Given the description of an element on the screen output the (x, y) to click on. 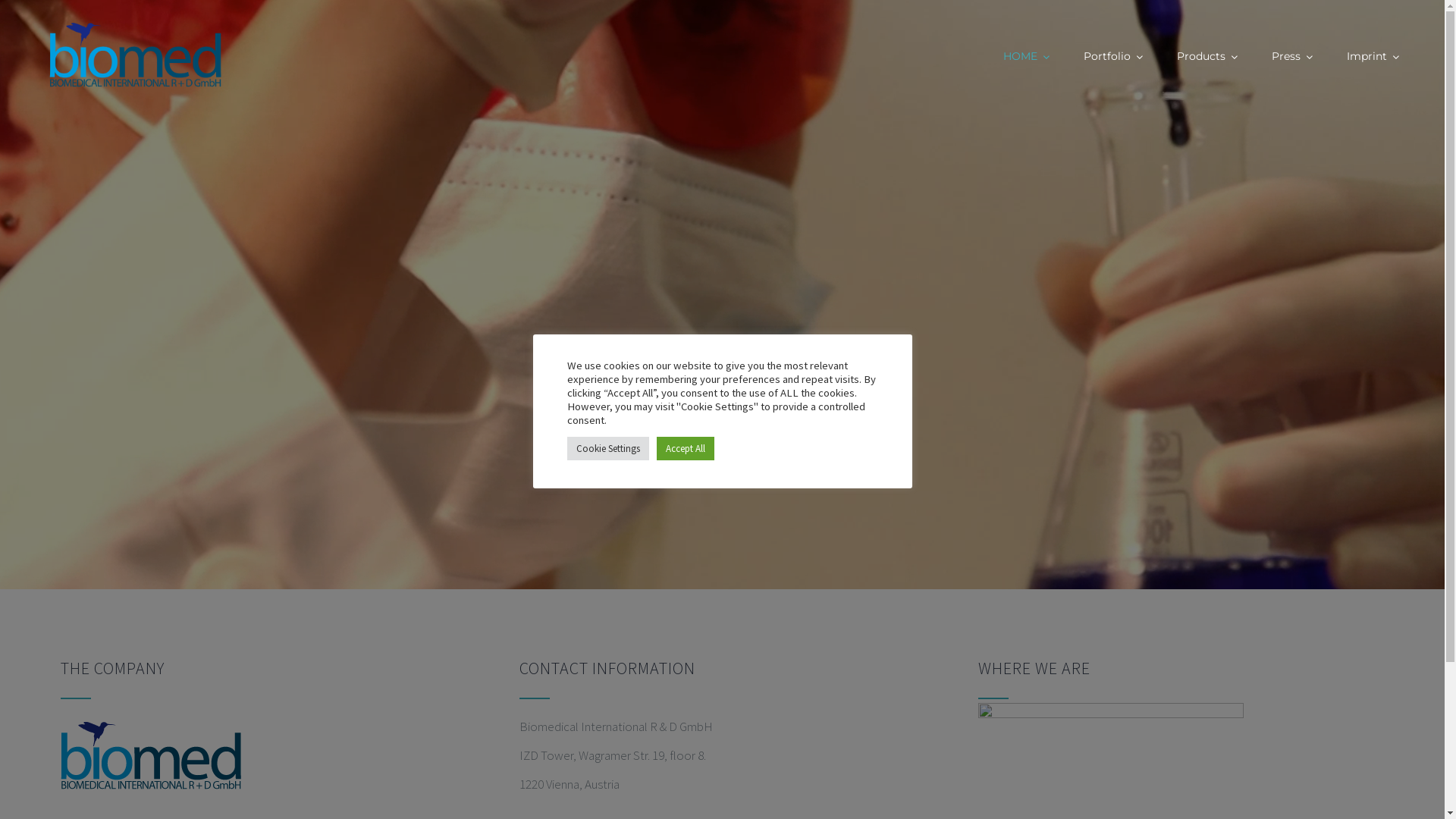
Portfolio Element type: text (1112, 56)
HOME Element type: text (1026, 56)
Products Element type: text (1206, 56)
Cookie Settings Element type: text (608, 448)
Press Element type: text (1291, 56)
Imprint Element type: text (1372, 56)
Accept All Element type: text (685, 448)
